Given the description of an element on the screen output the (x, y) to click on. 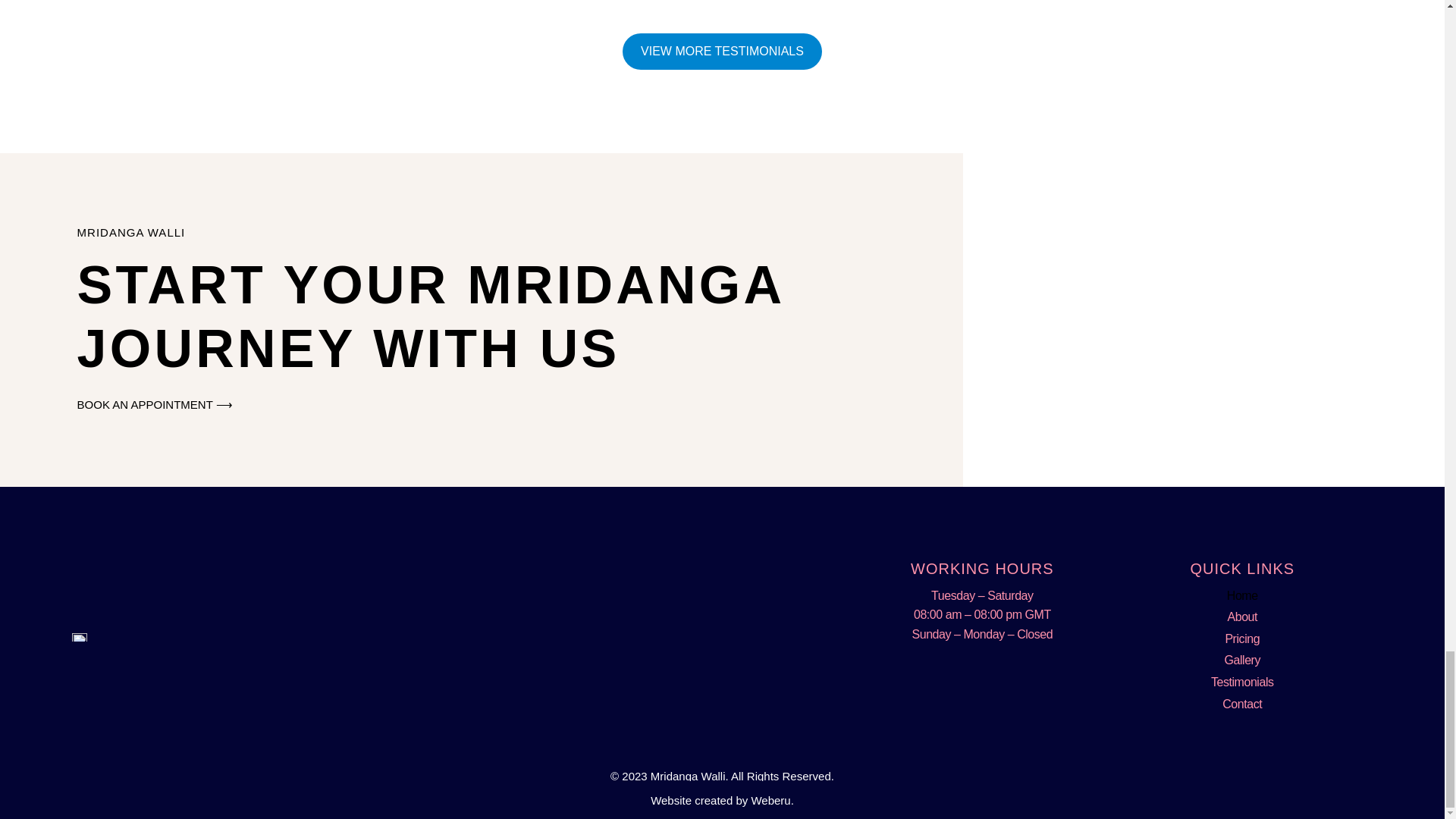
Testimonials (1242, 682)
Home (1242, 596)
VIEW MORE TESTIMONIALS (722, 51)
About (1242, 617)
Pricing (1242, 639)
Contact (1242, 704)
Gallery (1242, 660)
